Given the description of an element on the screen output the (x, y) to click on. 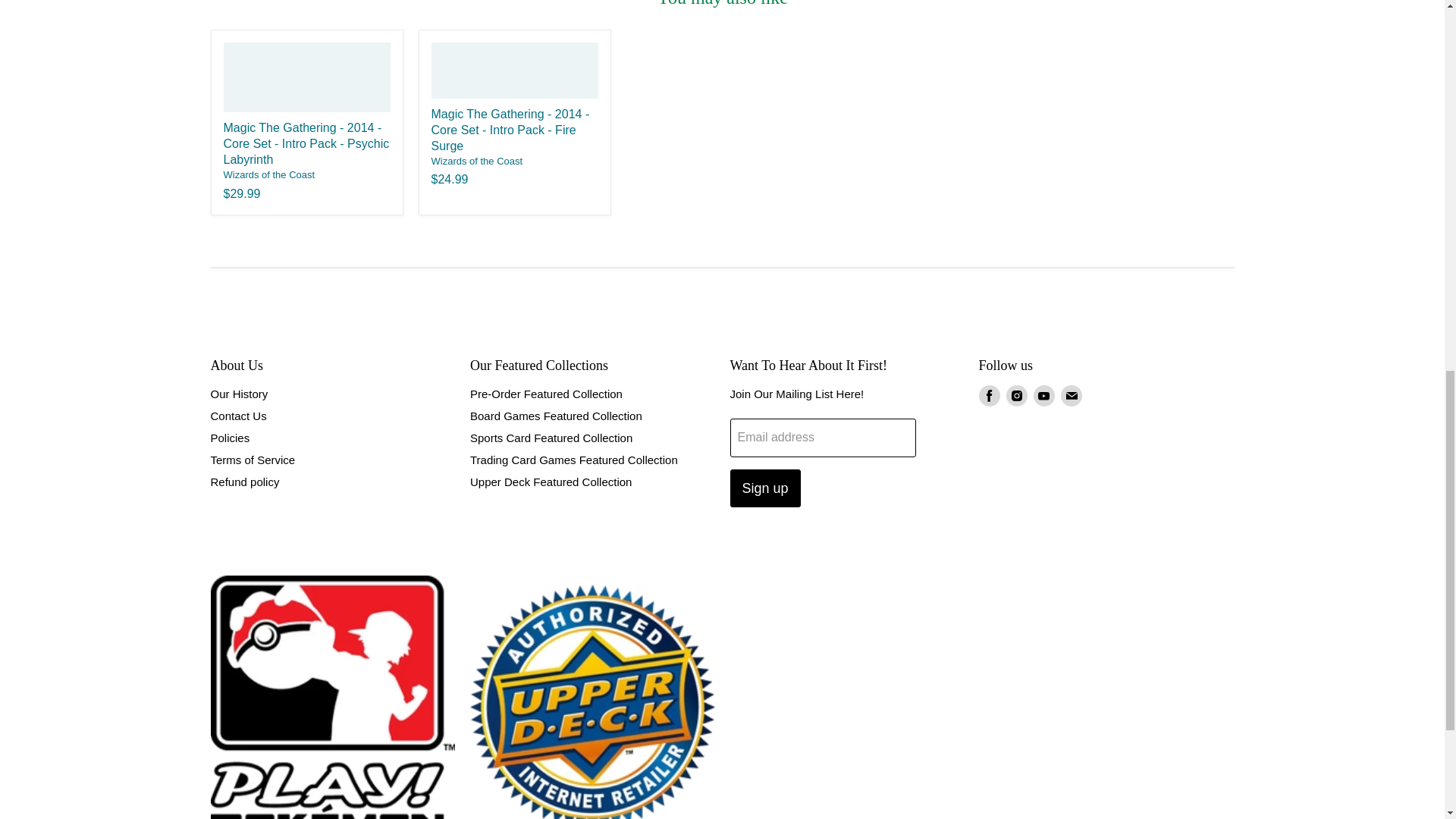
Wizards of the Coast (476, 161)
Instagram (1016, 395)
Youtube (1043, 395)
Wizards of the Coast (268, 174)
Email (1070, 395)
Facebook (988, 395)
